Given the description of an element on the screen output the (x, y) to click on. 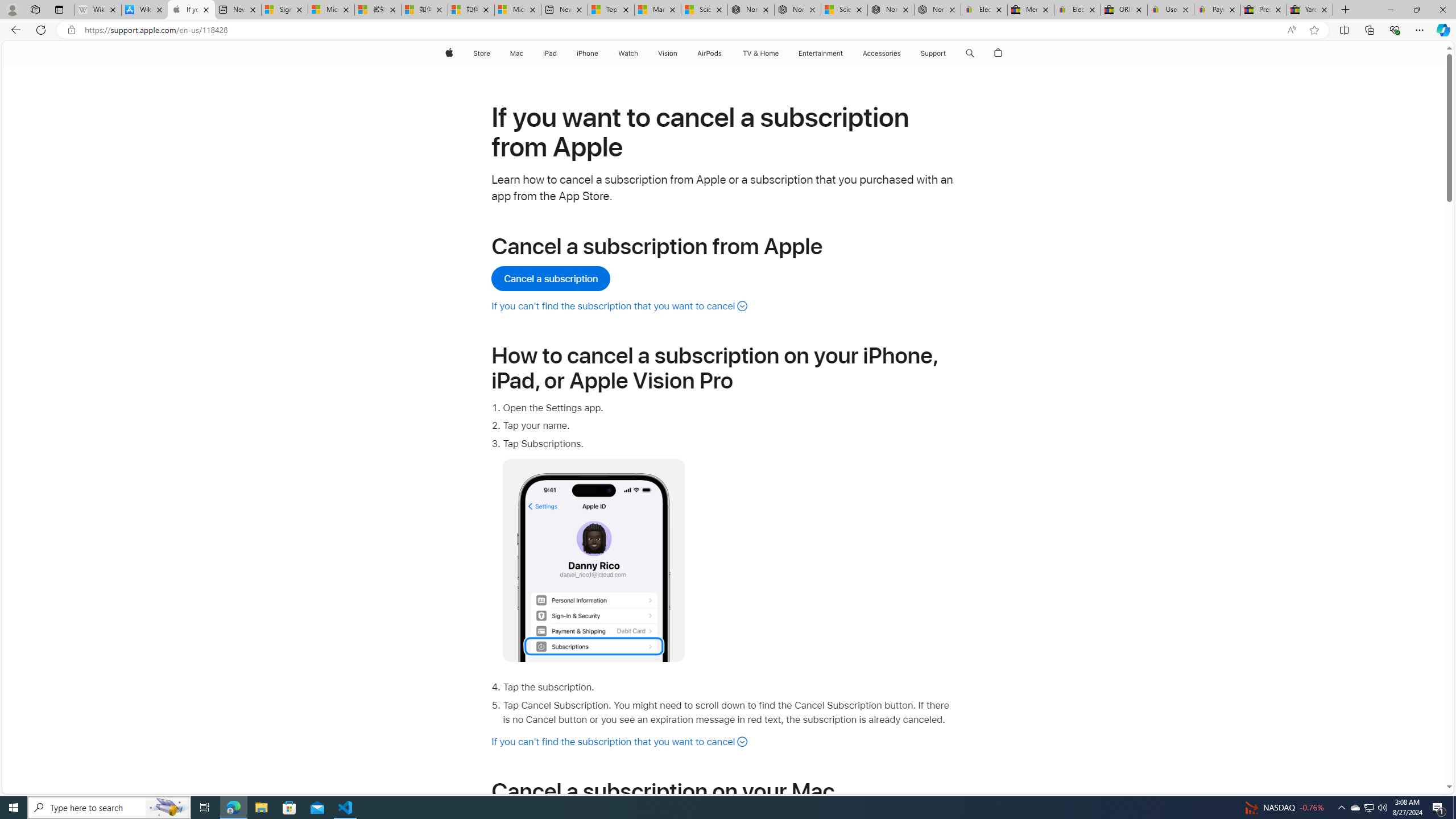
Apple (448, 53)
TV and Home menu (780, 53)
AirPods (709, 53)
Vision (667, 53)
No alt supplied for Image (593, 560)
Mac menu (524, 53)
Accessories (881, 53)
iPad menu (557, 53)
Search Support (969, 53)
Class: globalnav-submenu-trigger-item (948, 53)
